Given the description of an element on the screen output the (x, y) to click on. 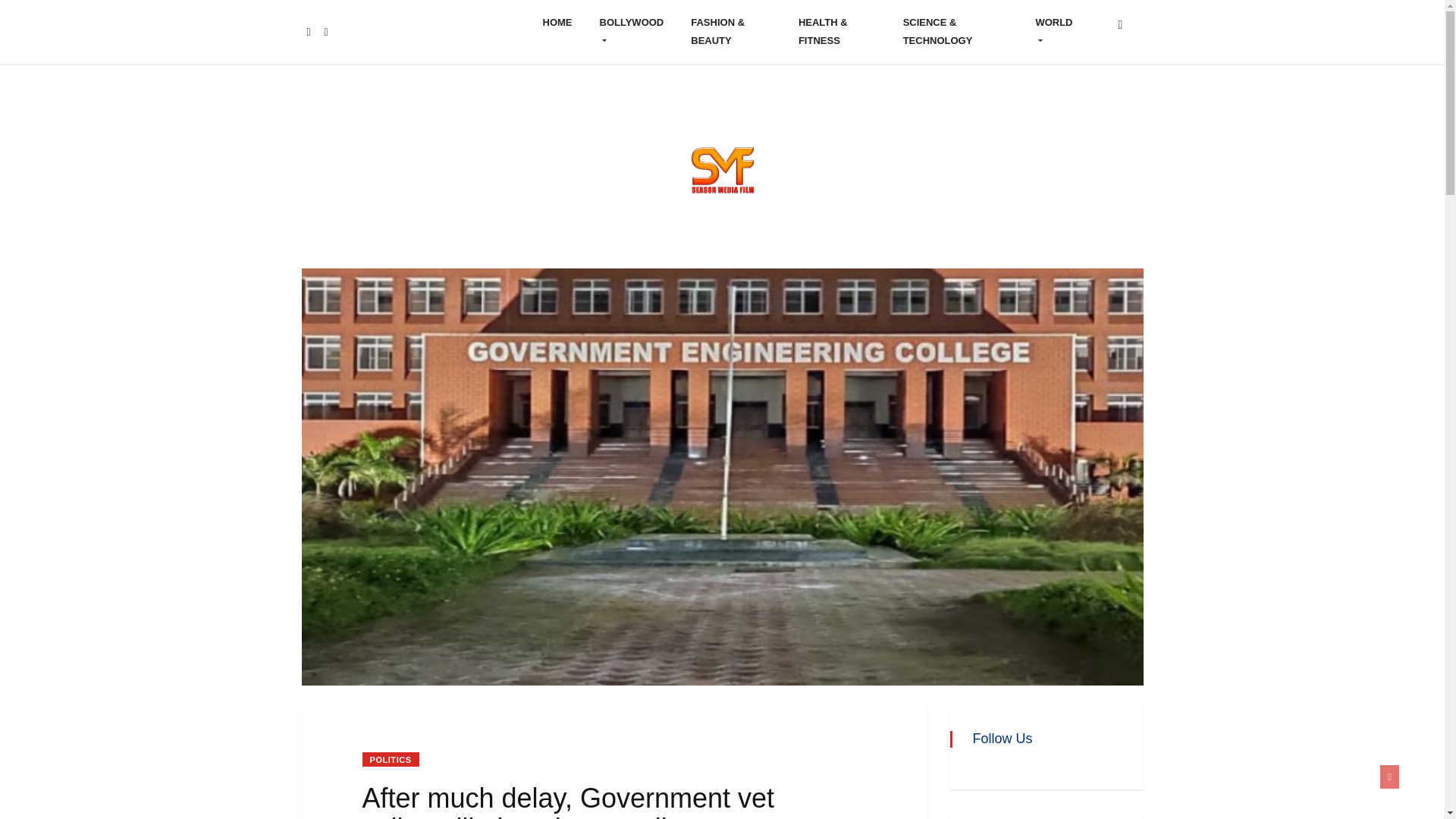
WORLD (1054, 31)
BOLLYWOOD (631, 31)
HOME (557, 22)
POLITICS (390, 759)
